Given the description of an element on the screen output the (x, y) to click on. 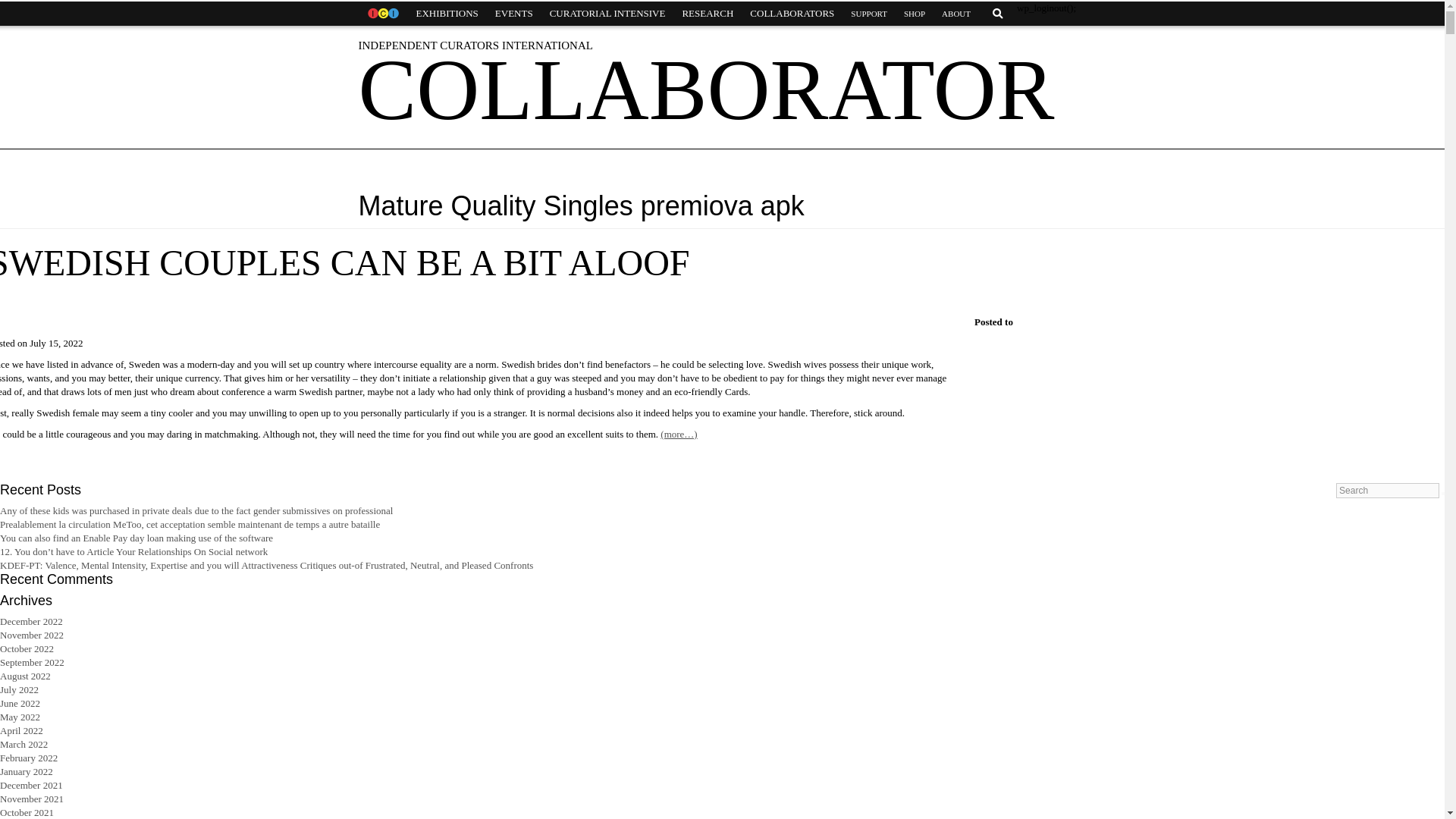
CURATORIAL INTENSIVE (607, 13)
HOME (382, 13)
EVENTS (513, 13)
RESEARCH (706, 13)
EXHIBITIONS (446, 13)
COLLABORATORS (792, 13)
